Given the description of an element on the screen output the (x, y) to click on. 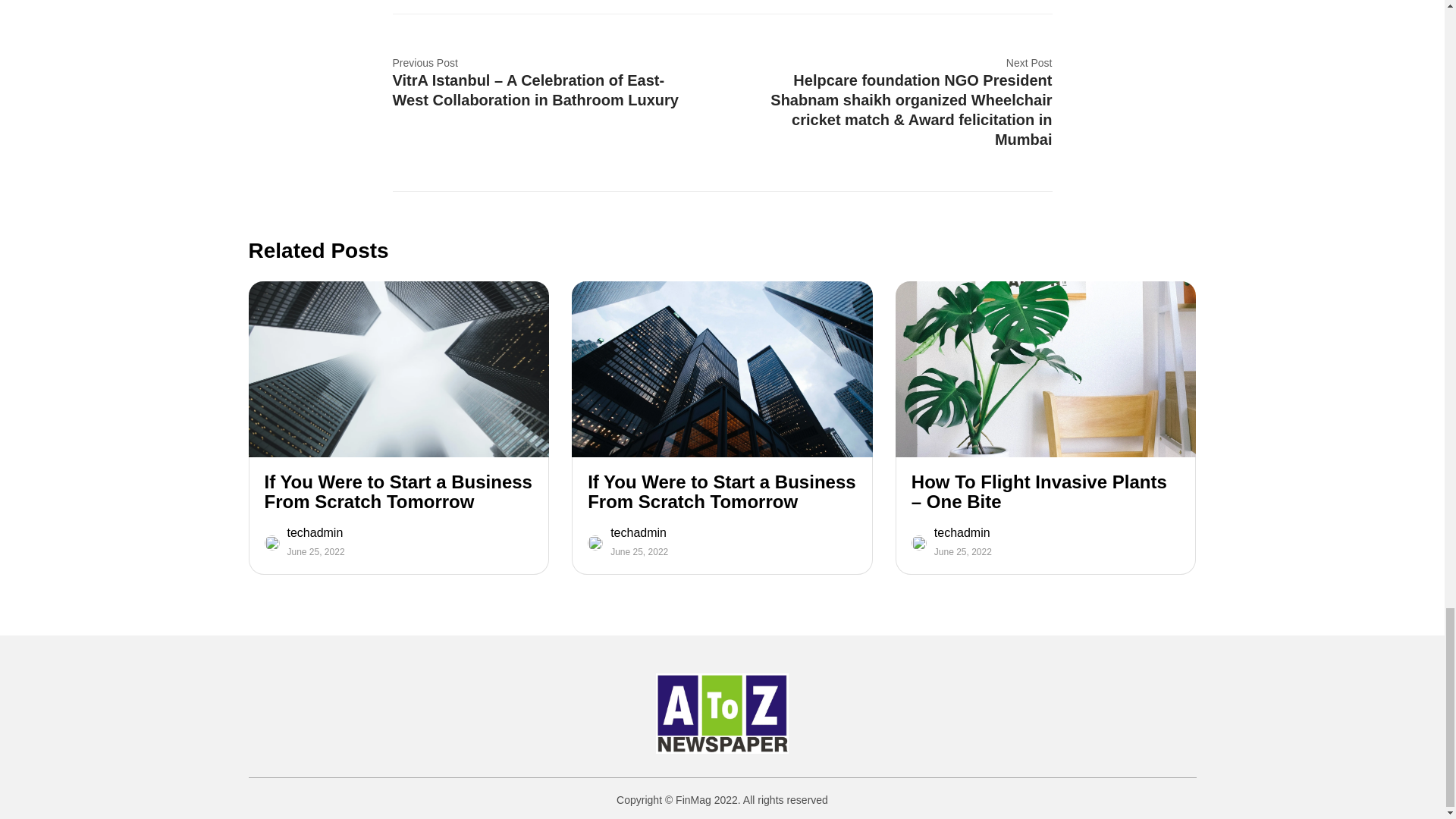
techadmin (962, 532)
techadmin (314, 532)
techadmin (639, 532)
If You Were to Start a Business From Scratch Tomorrow (722, 491)
If You Were to Start a Business From Scratch Tomorrow (397, 491)
